Given the description of an element on the screen output the (x, y) to click on. 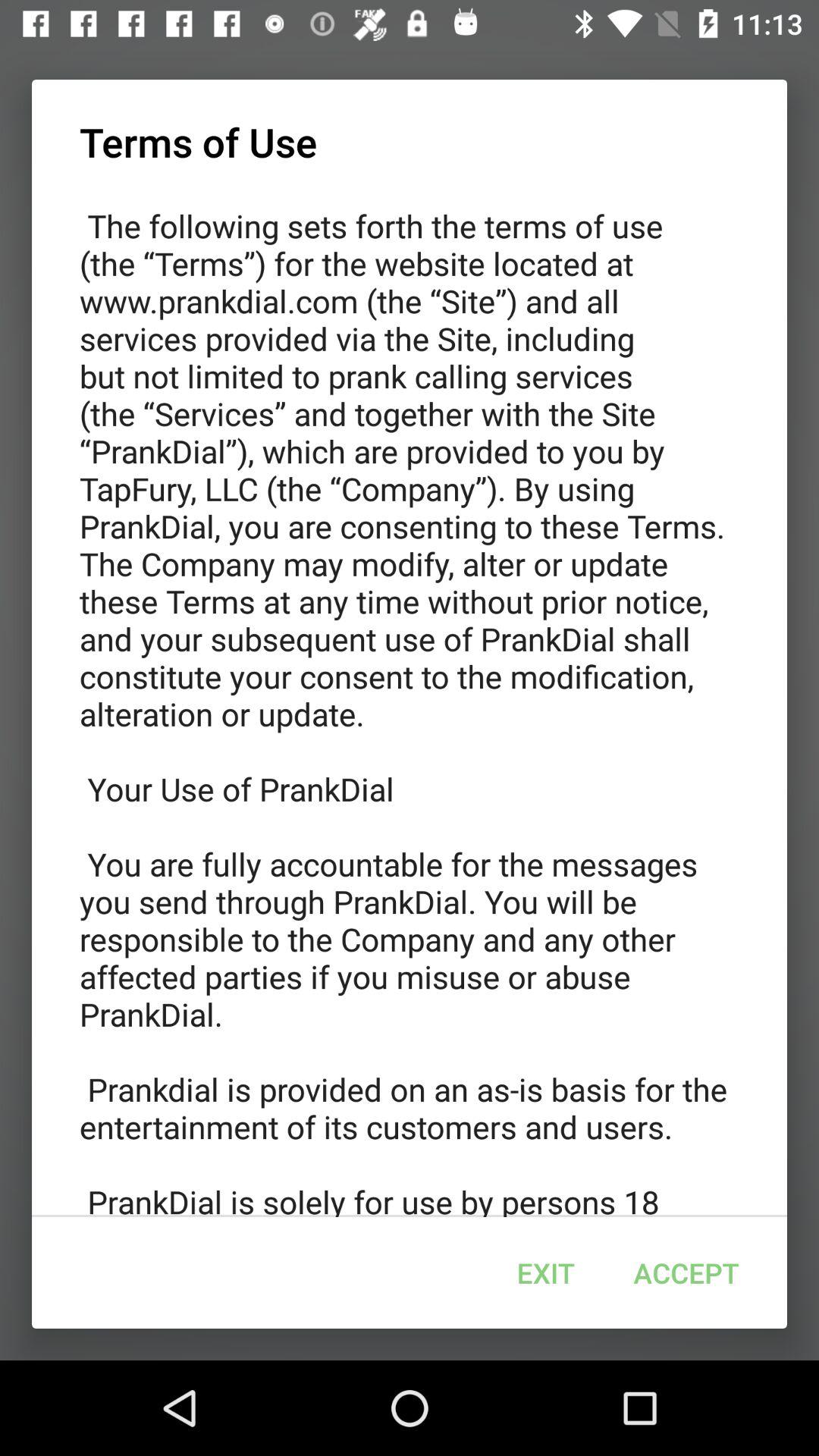
open the icon to the left of the accept (545, 1272)
